Given the description of an element on the screen output the (x, y) to click on. 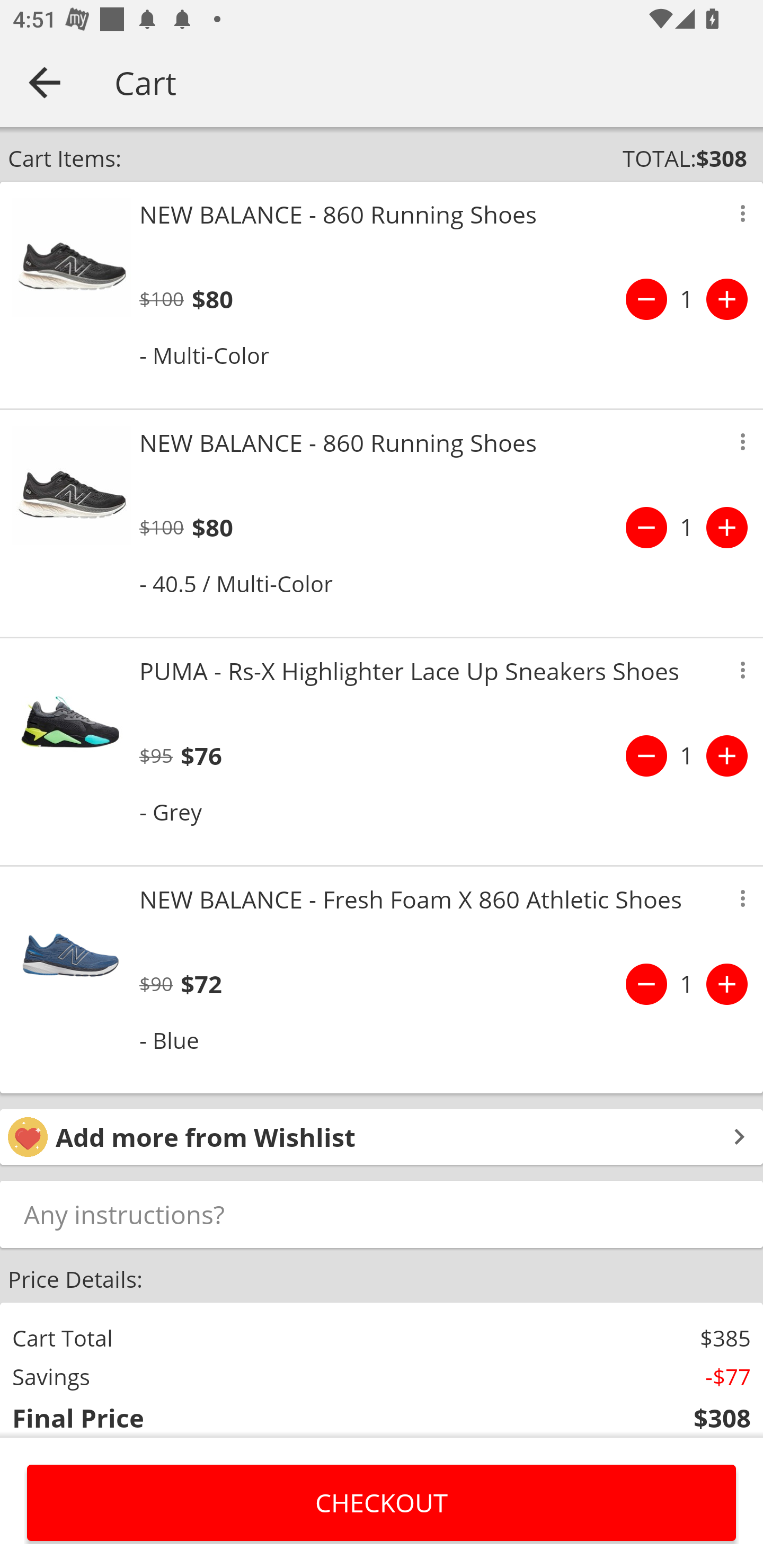
Navigate up (44, 82)
1 (686, 299)
1 (686, 527)
1 (686, 755)
1 (686, 984)
Add more from Wishlist (381, 1136)
Any instructions? (381, 1213)
CHECKOUT (381, 1502)
